Given the description of an element on the screen output the (x, y) to click on. 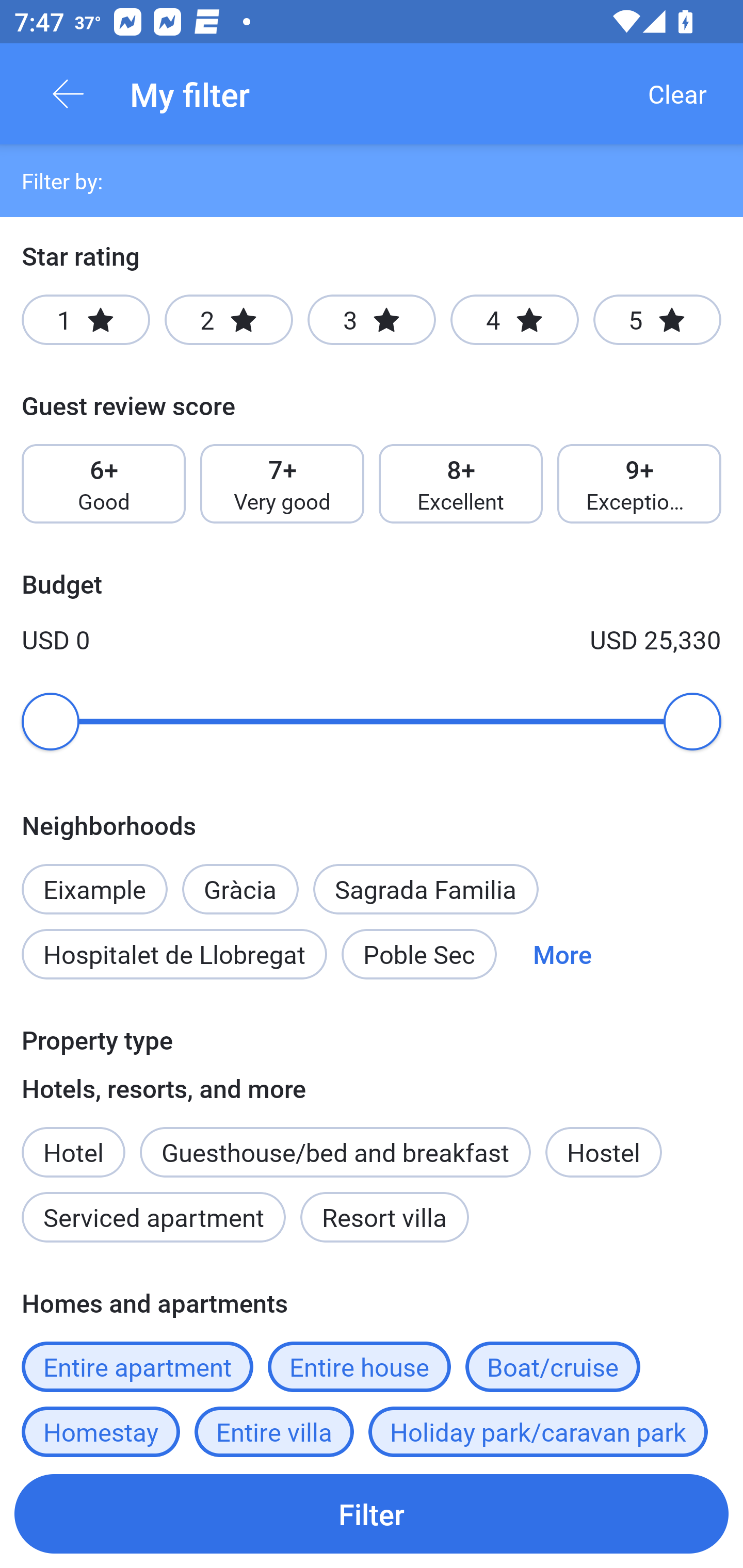
Clear (676, 93)
1 (85, 319)
2 (228, 319)
3 (371, 319)
4 (514, 319)
5 (657, 319)
6+ Good (103, 483)
7+ Very good (281, 483)
8+ Excellent (460, 483)
9+ Exceptional (639, 483)
Eixample (94, 878)
Gràcia (240, 878)
Sagrada Familia (425, 888)
Hospitalet de Llobregat (173, 954)
Poble Sec (419, 954)
More (562, 954)
Hotel (73, 1141)
Guesthouse/bed and breakfast (335, 1151)
Hostel (603, 1151)
Serviced apartment (153, 1217)
Resort villa (384, 1217)
Filter (371, 1513)
